Given the description of an element on the screen output the (x, y) to click on. 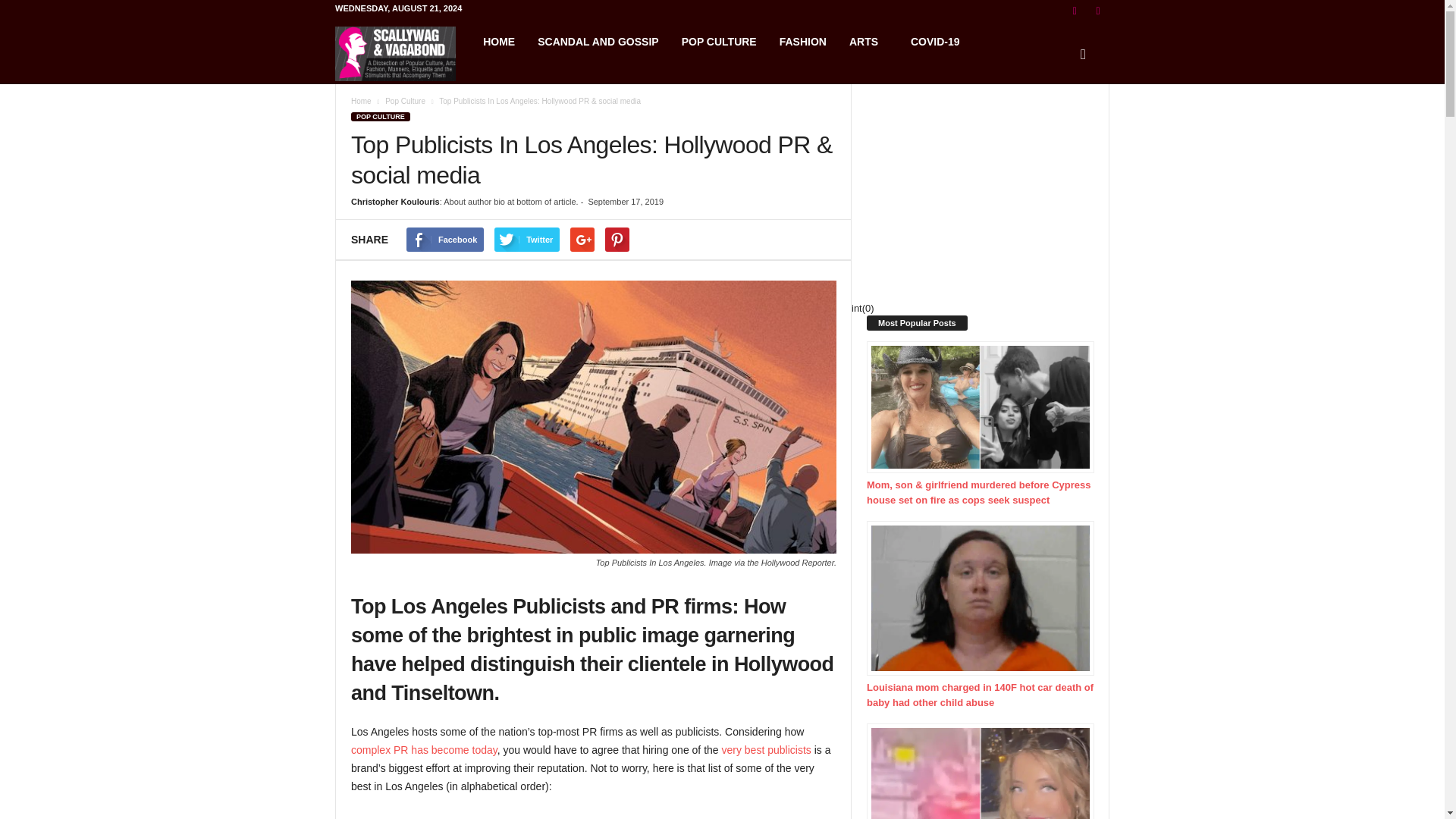
Pop Culture (405, 101)
Scallywag and Vagabond (402, 52)
HOME (498, 41)
Home (360, 101)
COVID-19 (935, 41)
View all posts in Pop Culture (405, 101)
very best publicists (766, 749)
complex PR has become today (423, 749)
Christopher Koulouris (394, 201)
